Given the description of an element on the screen output the (x, y) to click on. 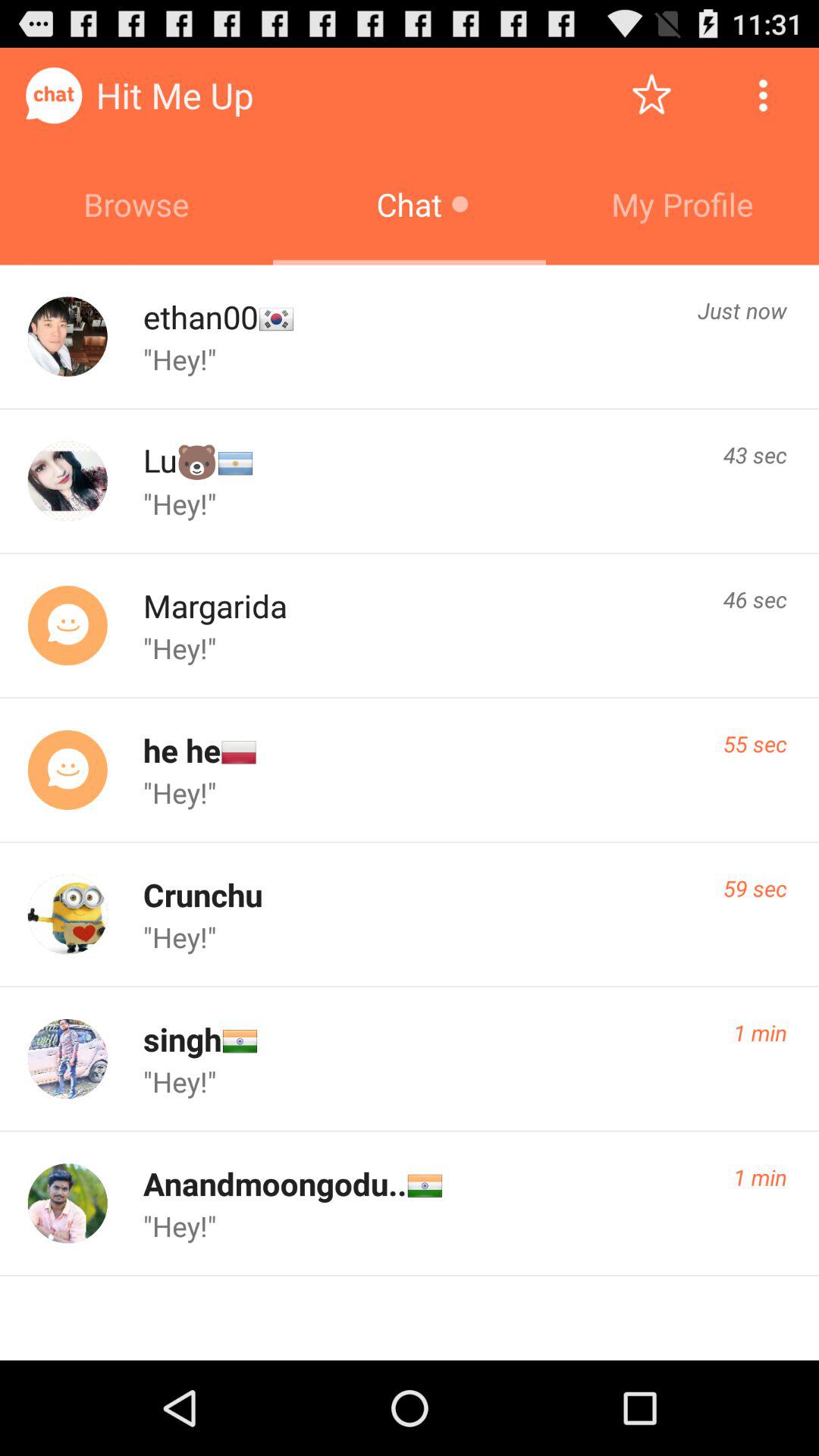
launch the icon below my profile (742, 310)
